Given the description of an element on the screen output the (x, y) to click on. 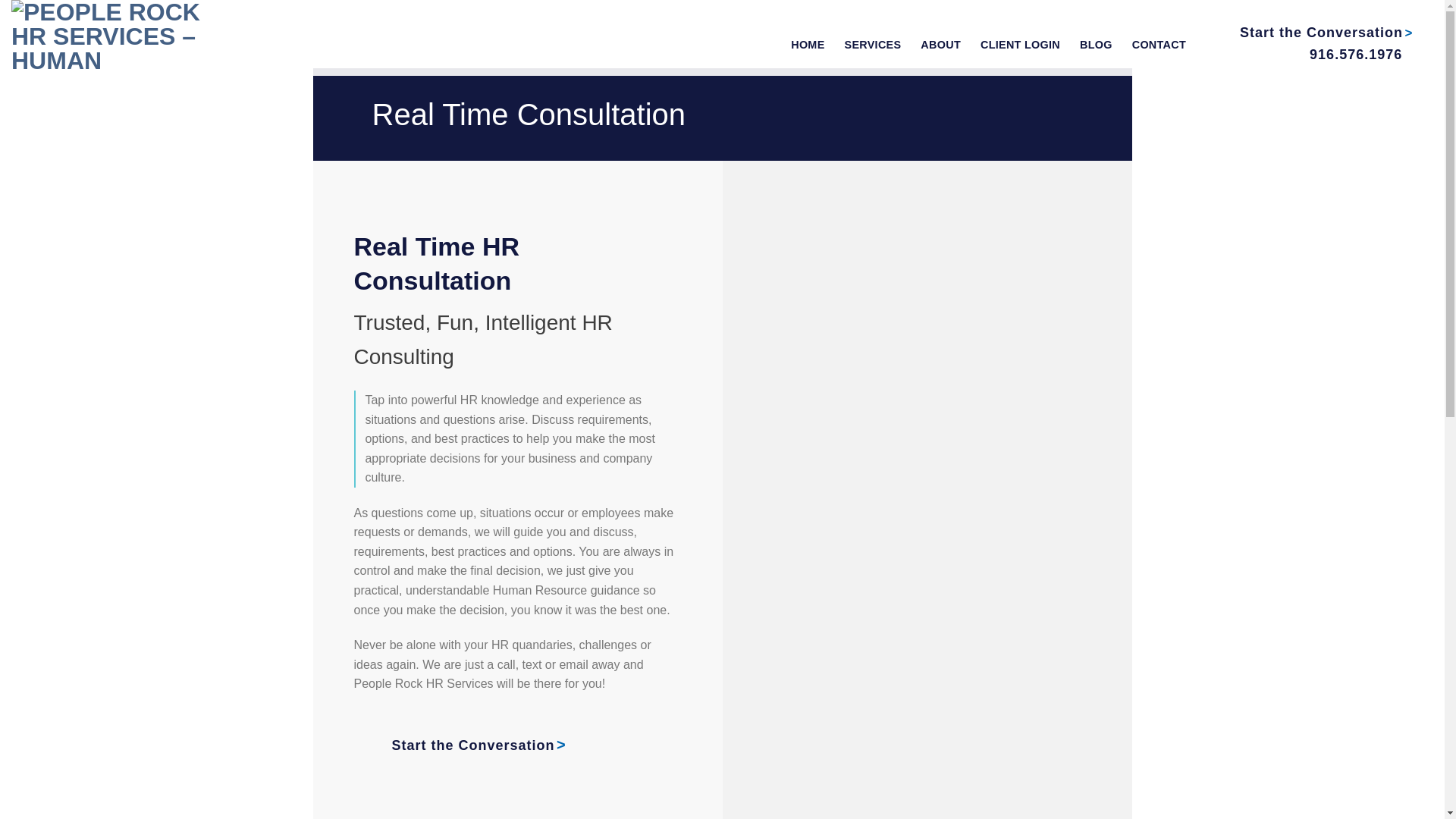
CLIENT LOGIN (1019, 44)
CONTACT (1159, 44)
Start the Conversation (473, 744)
ABOUT (940, 44)
916.576.1976 (1356, 54)
HOME (807, 44)
SERVICES (872, 44)
BLOG (1096, 44)
Start the Conversation (1322, 32)
